Given the description of an element on the screen output the (x, y) to click on. 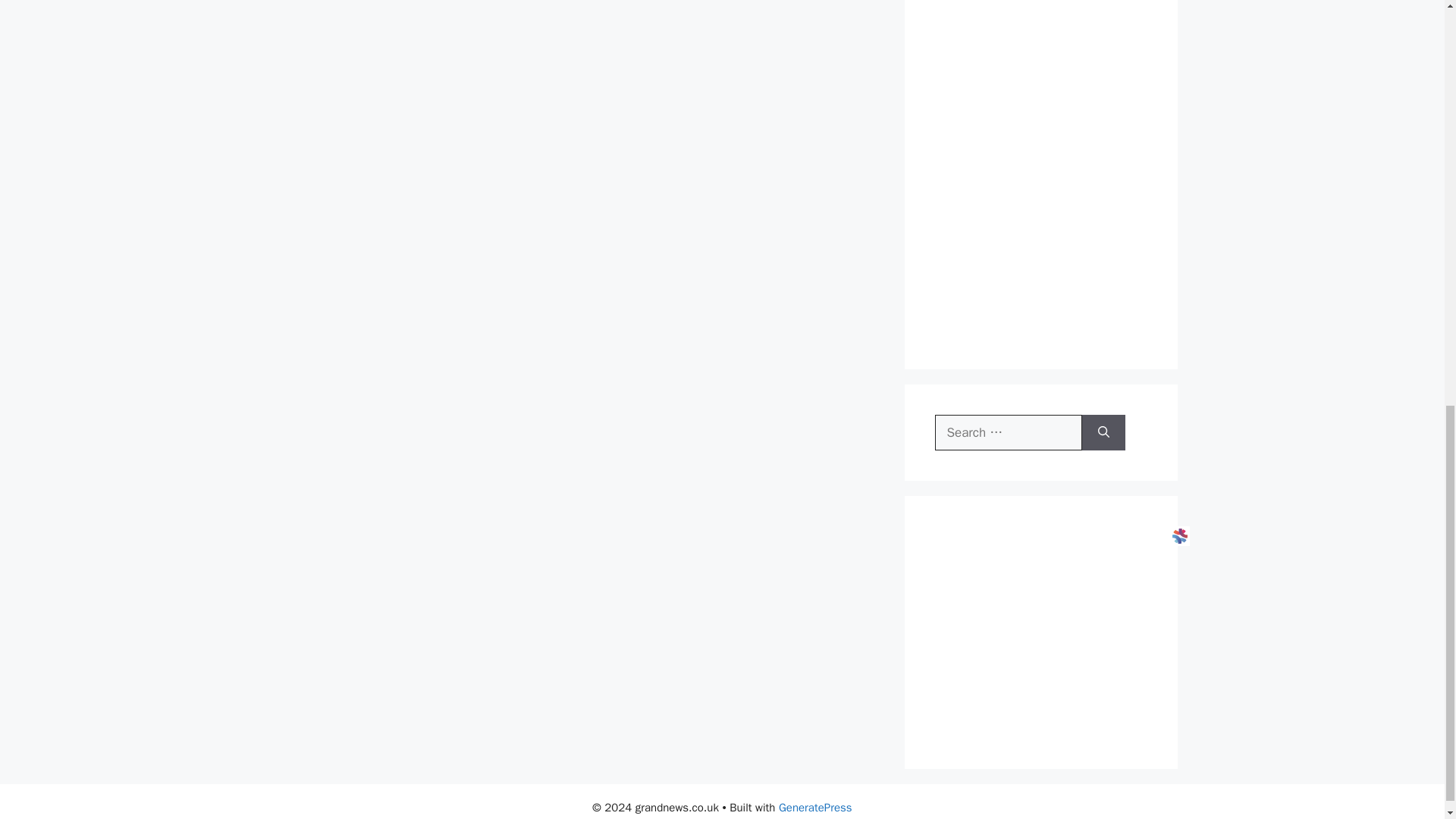
Search for: (1007, 432)
GeneratePress (814, 807)
